Given the description of an element on the screen output the (x, y) to click on. 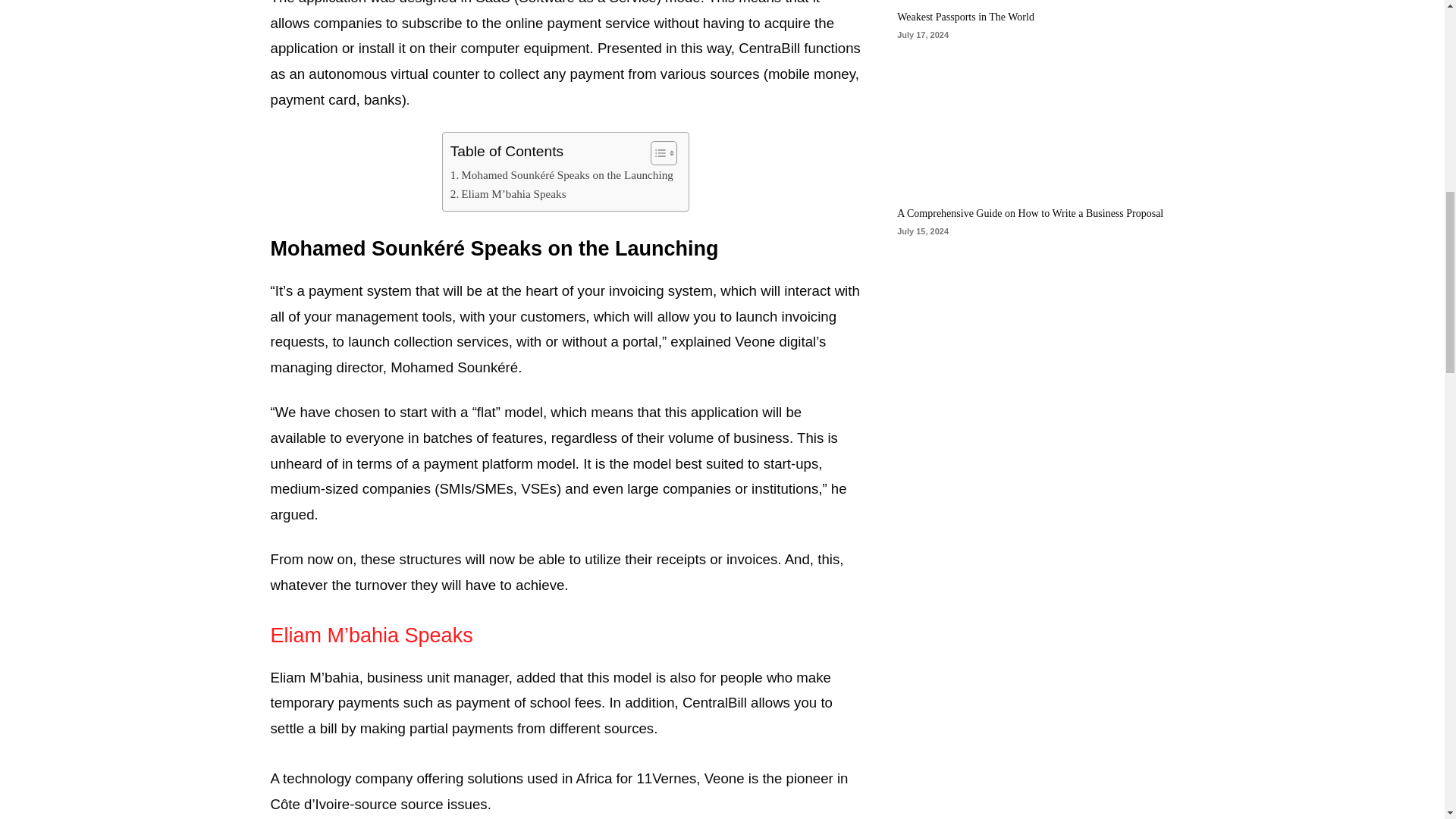
Weakest Passports in The World (964, 16)
